Given the description of an element on the screen output the (x, y) to click on. 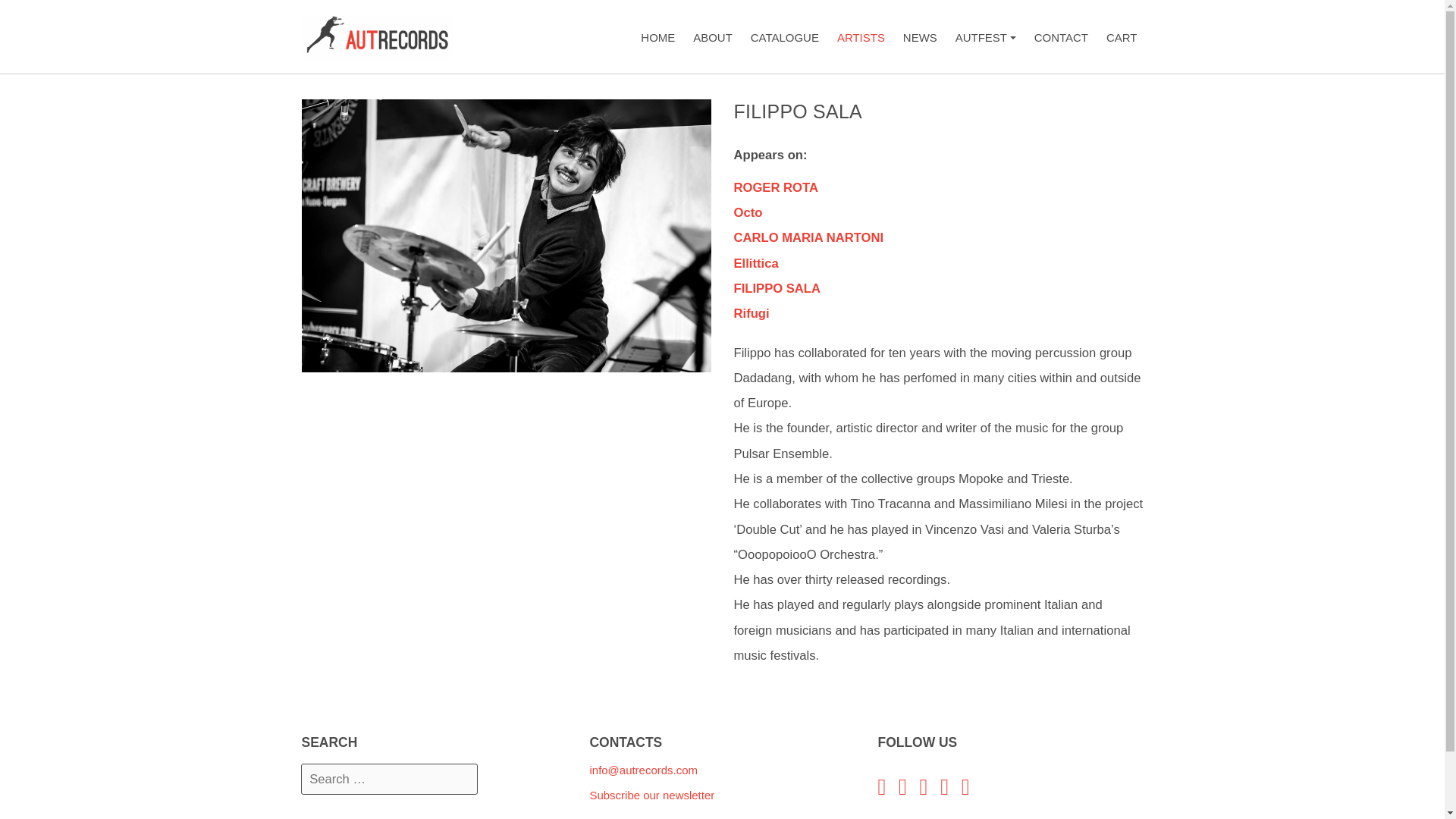
CATALOGUE (775, 200)
CART (784, 38)
ABOUT (777, 301)
CONTACT (1121, 38)
AUTFEST (712, 38)
HOME (1060, 38)
ARTISTS (985, 38)
AUTFEST (657, 38)
